Given the description of an element on the screen output the (x, y) to click on. 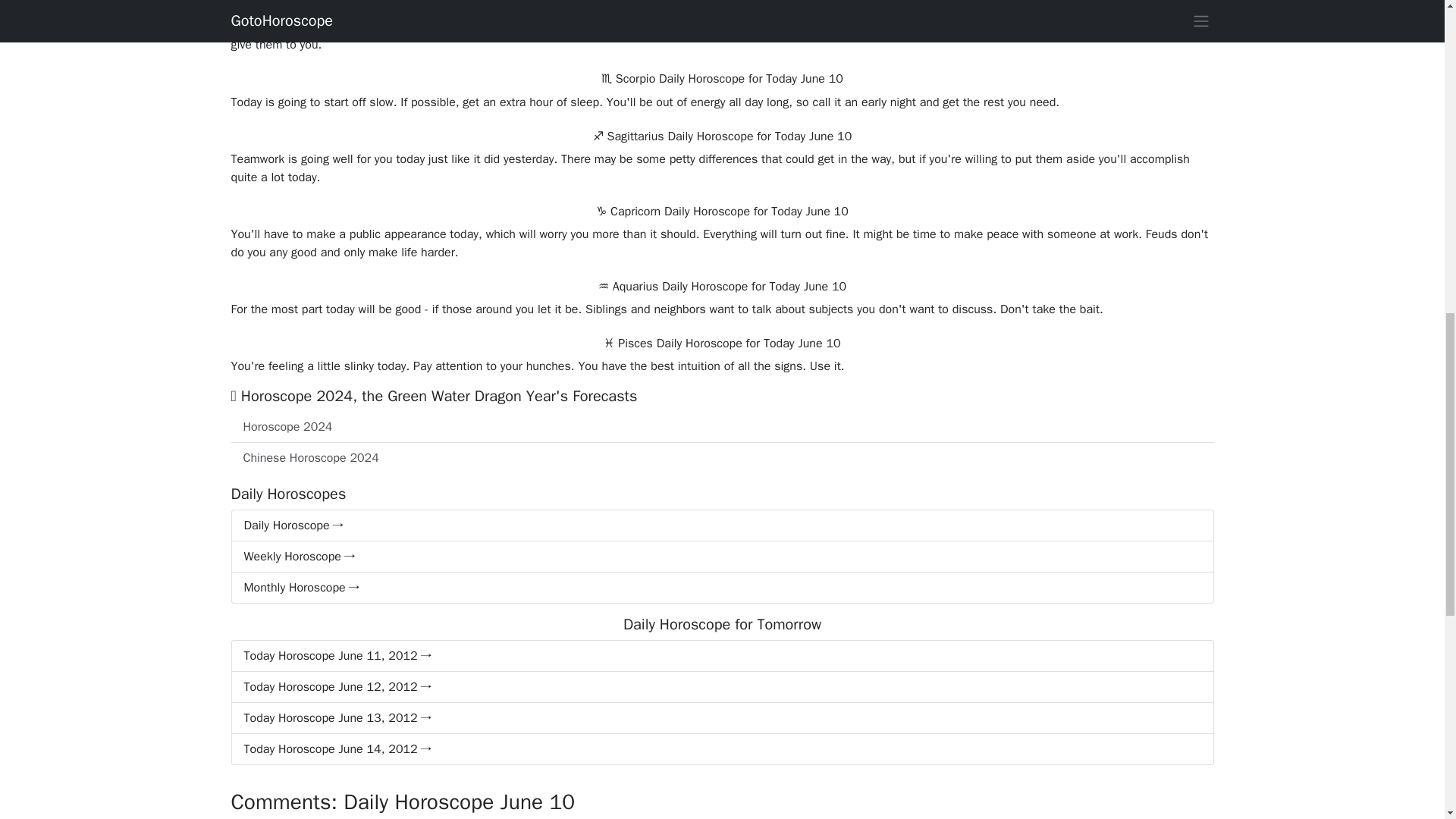
Today Horoscope June 14, 2012 (721, 748)
Horoscope 2024 (721, 427)
Weekly Horoscope (721, 556)
Monthly Horoscope (721, 587)
Today Horoscope June 11, 2012 (721, 655)
Today Horoscope June 12, 2012 (721, 686)
Daily Horoscope (721, 525)
Chinese Horoscope 2024 (721, 458)
Today Horoscope June 13, 2012 (721, 717)
